Given the description of an element on the screen output the (x, y) to click on. 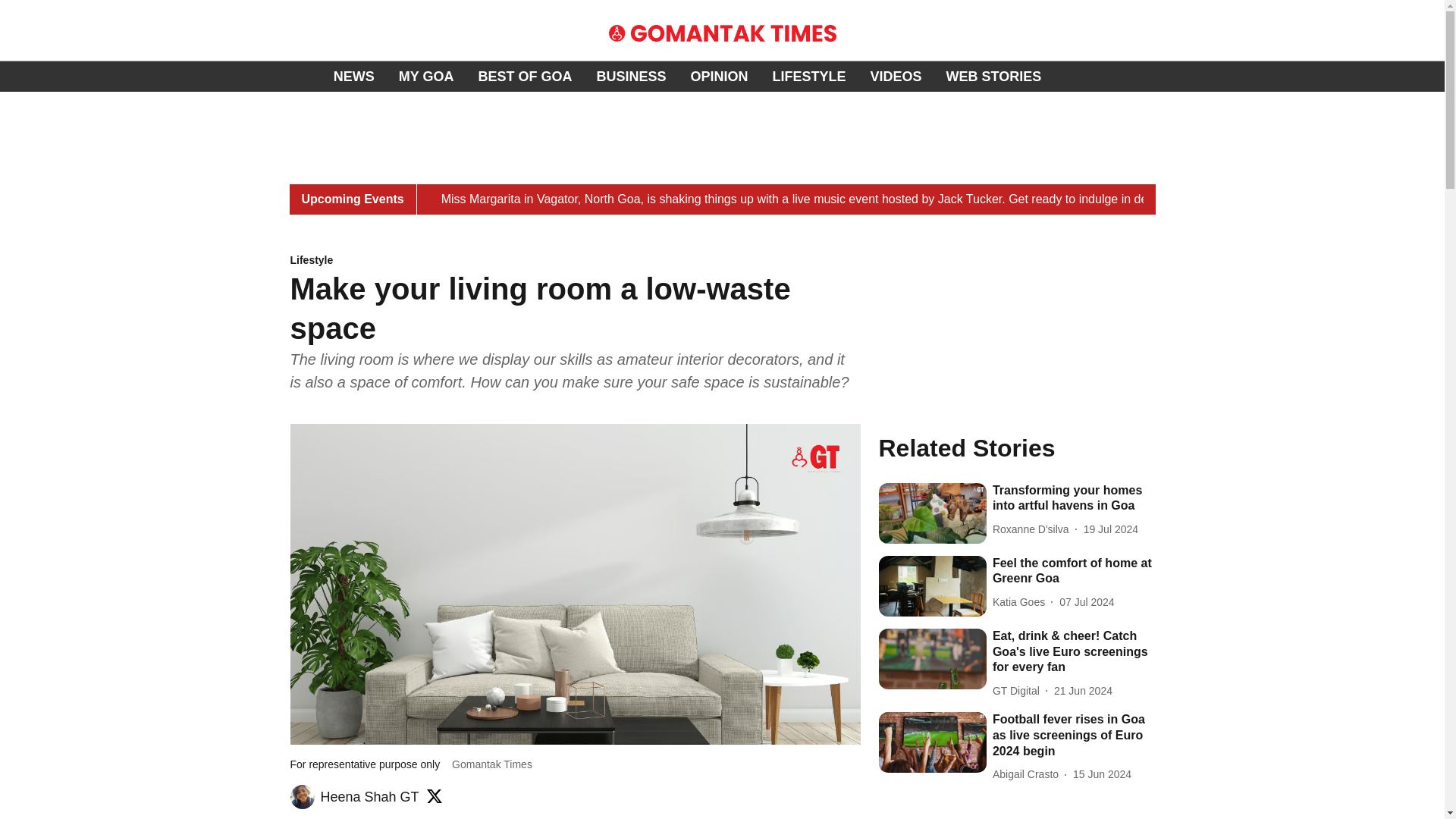
BEST OF GOA (524, 76)
VIDEOS (895, 76)
2024-06-15 10:08 (1102, 774)
OPINION (719, 76)
MY GOA (426, 76)
WEB STORIES (994, 76)
NEWS (353, 76)
Dark Mode (1415, 76)
2024-07-19 06:18 (1110, 529)
Heena Shah GT (369, 796)
BUSINESS (630, 76)
LIFESTYLE (808, 76)
2024-06-21 08:29 (1083, 691)
Lifestyle (574, 261)
